Given the description of an element on the screen output the (x, y) to click on. 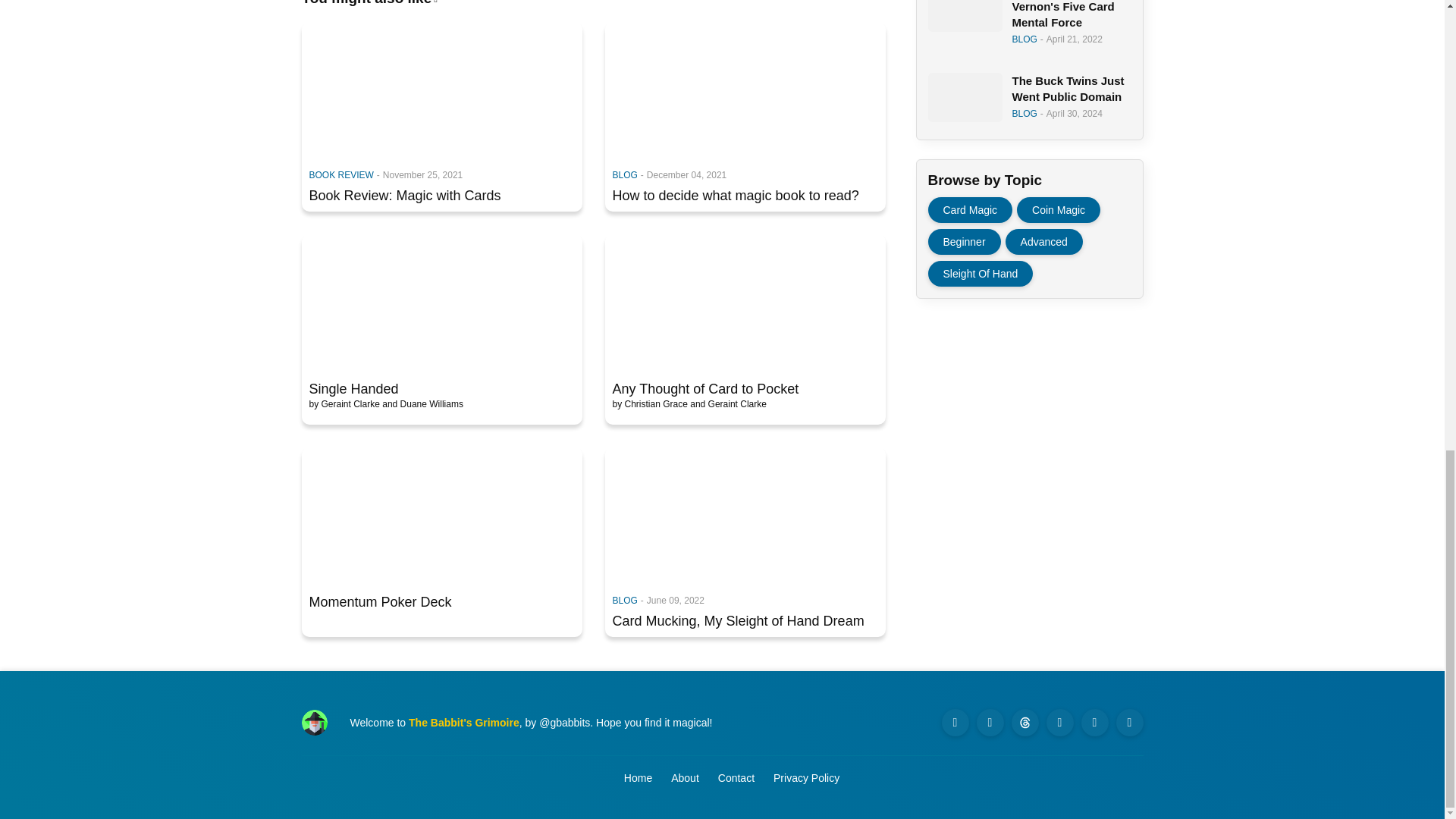
by Christian Grace and Geraint Clarke (689, 404)
Single Handed by Geraint Clarke and Duane Williams (385, 404)
Single Handed by Geraint Clarke and Duane Williams (441, 301)
How to decide what magic book to read? (744, 195)
Card Mucking, My Sleight of Hand Dream (744, 620)
Single Handed (441, 388)
Any Thought of Card to Pocket (744, 388)
Momentum Poker Deck (441, 601)
Book Review: Magic with Cards (441, 195)
